Given the description of an element on the screen output the (x, y) to click on. 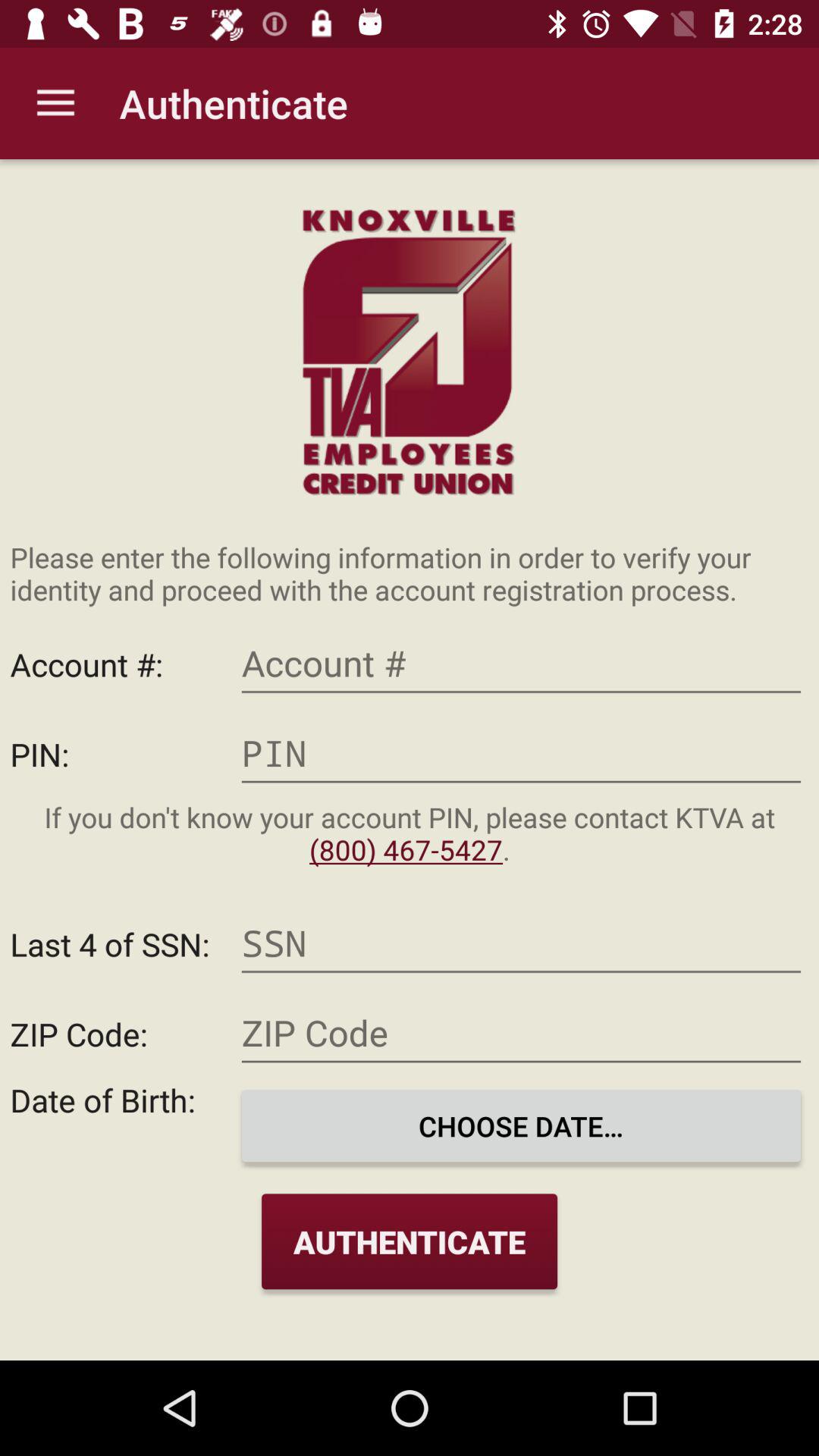
type here (520, 1033)
